Given the description of an element on the screen output the (x, y) to click on. 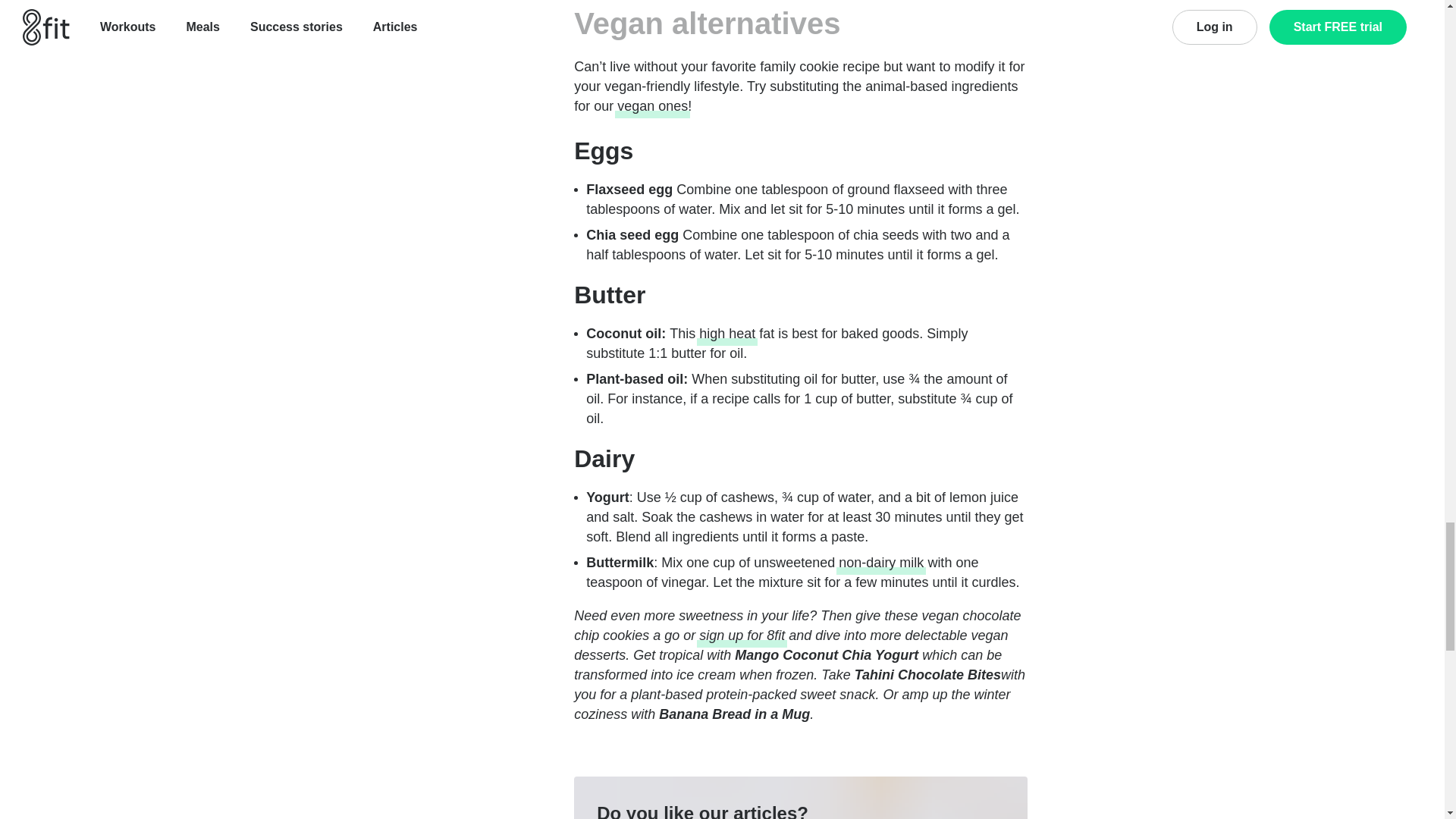
high heat (726, 333)
non-dairy milk (880, 562)
vegan ones (652, 106)
sign up for 8fit (741, 635)
